Given the description of an element on the screen output the (x, y) to click on. 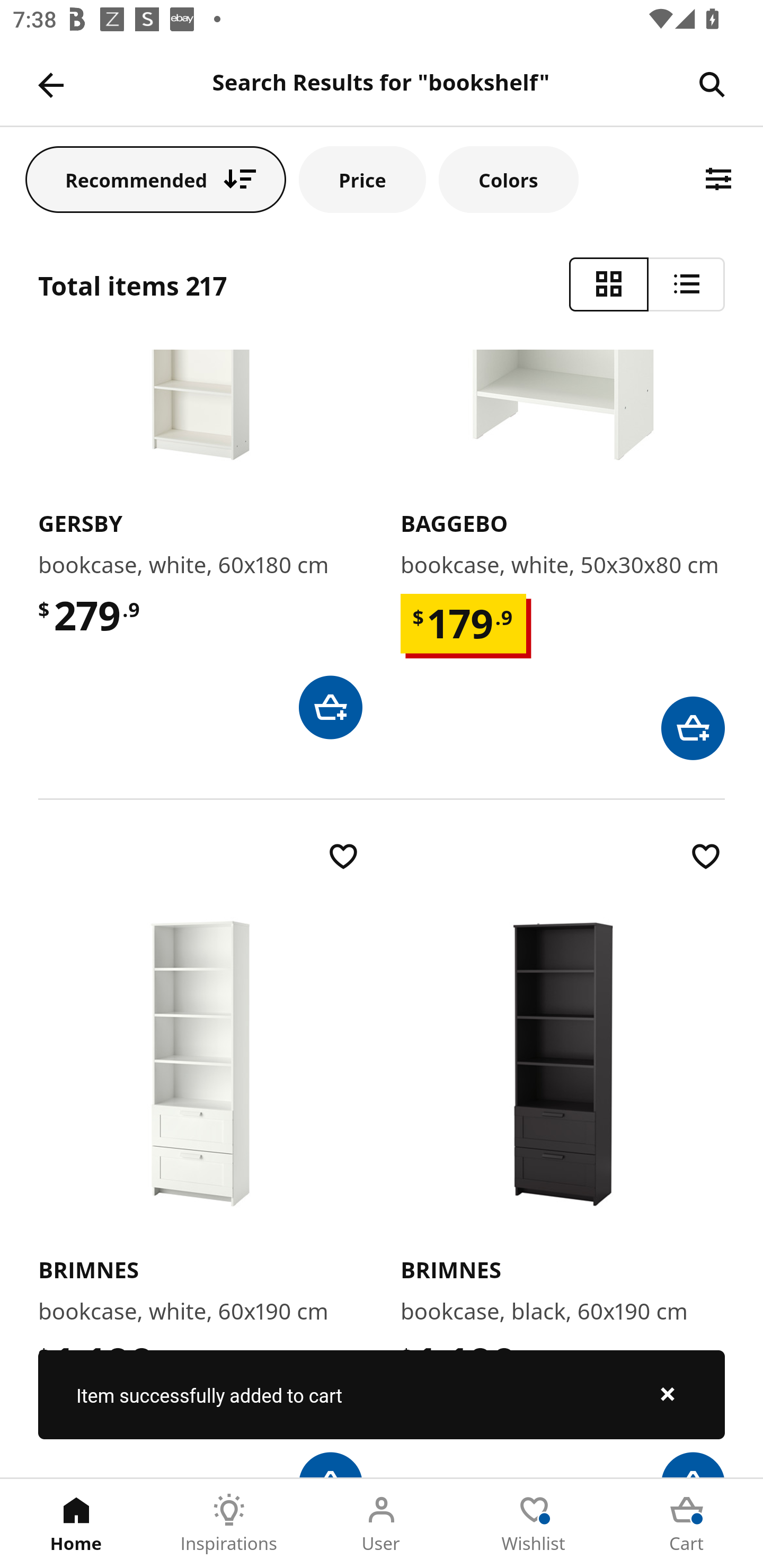
Recommended (155, 179)
Price (362, 179)
Colors (508, 179)
​G​E​R​S​B​Y​
bookcase, white, 60x180 cm
$
279
.9 (200, 543)
Item successfully added to cart (381, 1394)
Home
Tab 1 of 5 (76, 1522)
Inspirations
Tab 2 of 5 (228, 1522)
User
Tab 3 of 5 (381, 1522)
Wishlist
Tab 4 of 5 (533, 1522)
Cart
Tab 5 of 5 (686, 1522)
